Given the description of an element on the screen output the (x, y) to click on. 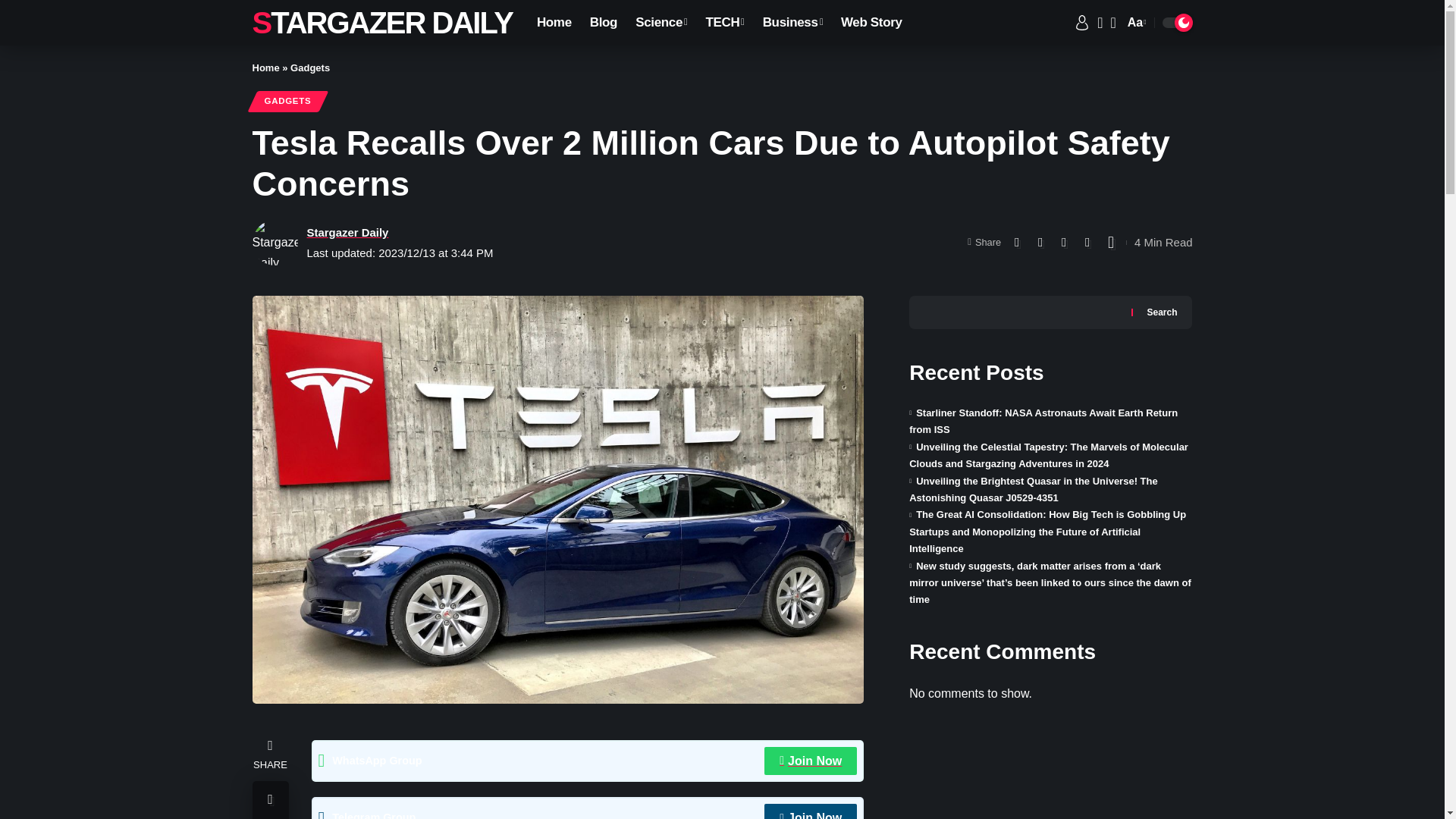
Home (553, 22)
STARGAZER DAILY (381, 22)
Science (660, 22)
TECH (723, 22)
Web Story (871, 22)
Blog (1135, 22)
Business (603, 22)
Stargazer Daily (792, 22)
